Given the description of an element on the screen output the (x, y) to click on. 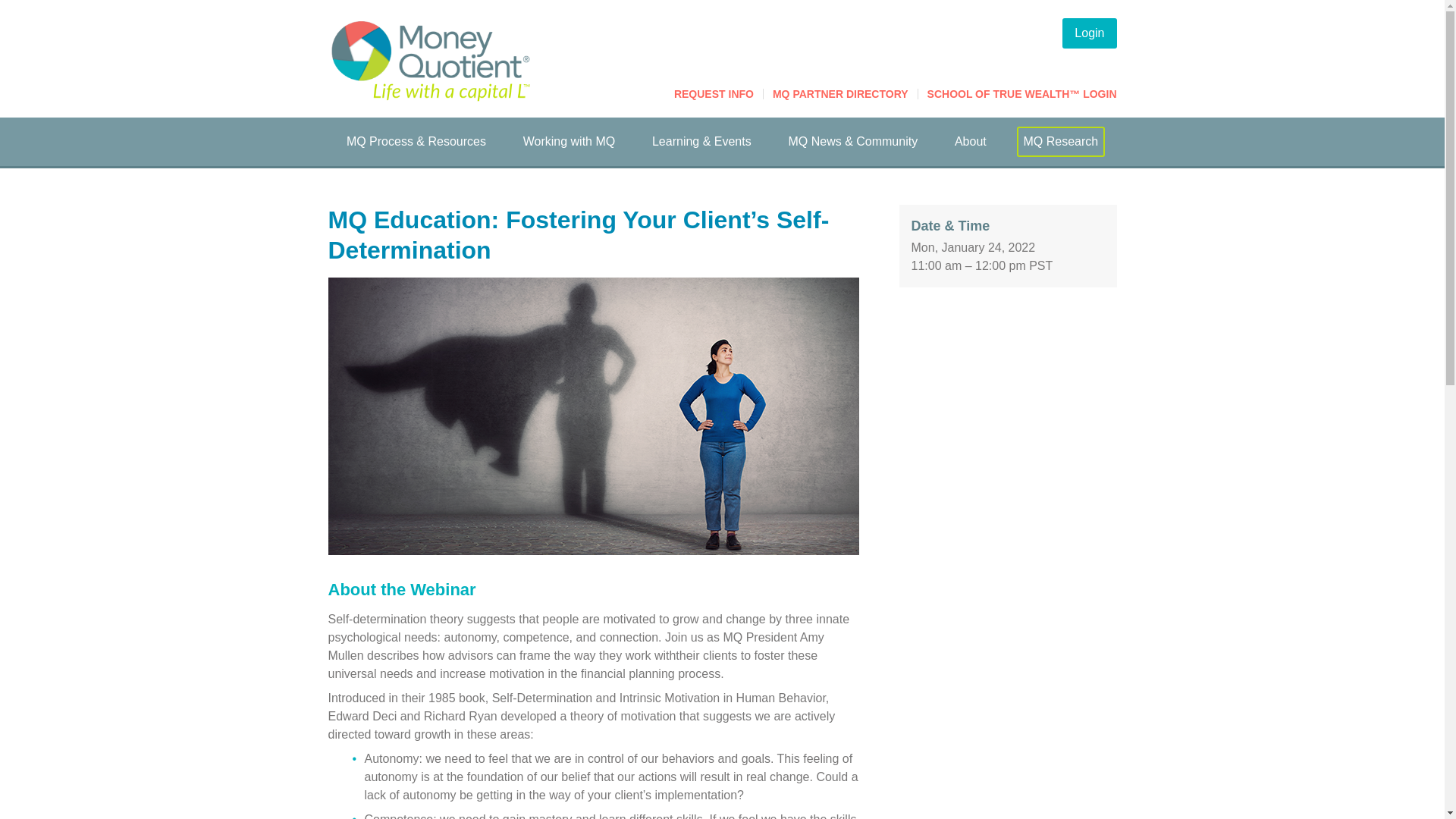
REQUEST INFO (714, 93)
MQ PARTNER DIRECTORY (840, 93)
About (971, 141)
Login (1089, 33)
Working with MQ (568, 141)
MQ Research (1060, 141)
